Given the description of an element on the screen output the (x, y) to click on. 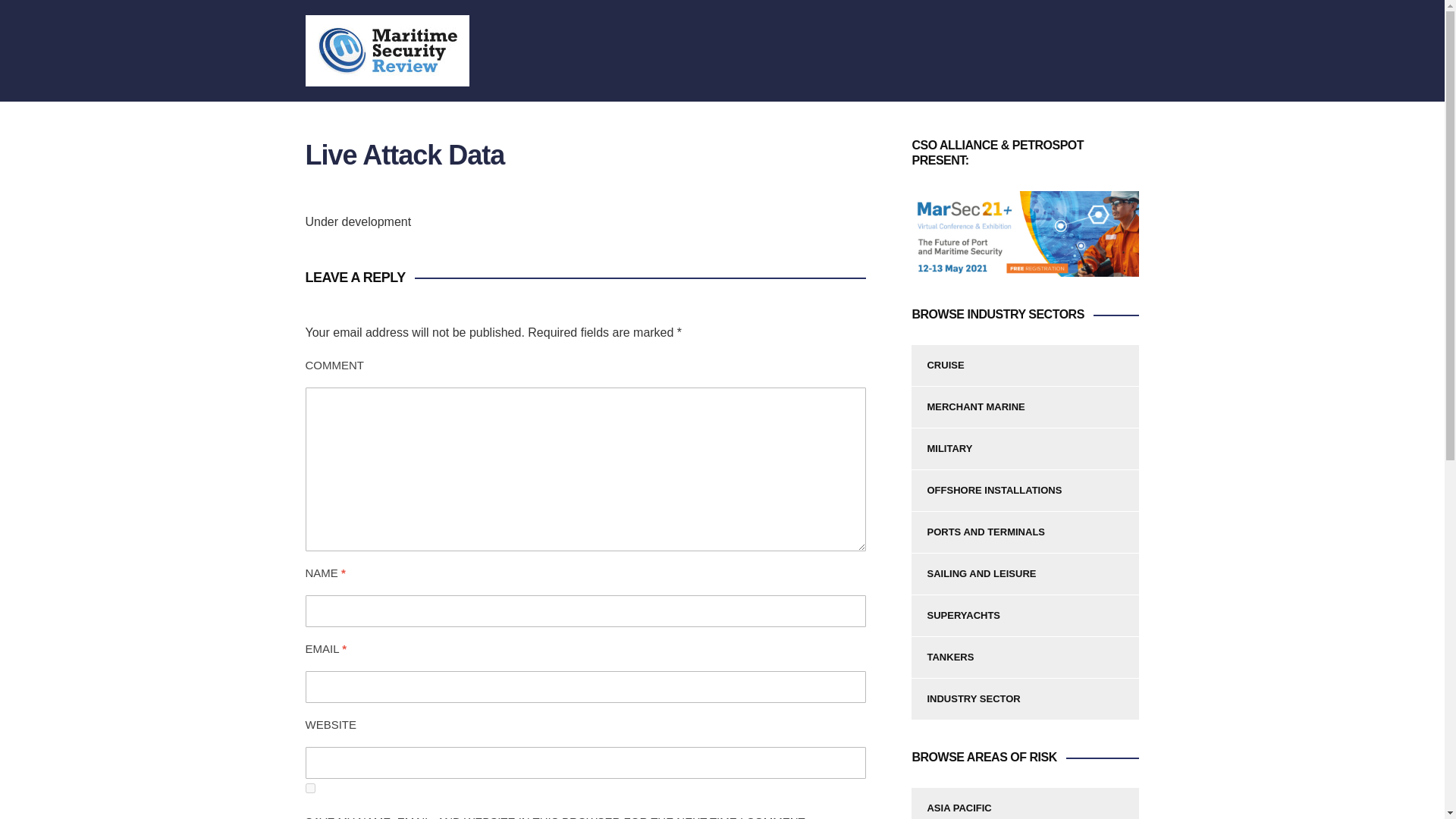
PORTS AND TERMINALS (1024, 532)
SAILING AND LEISURE (1024, 574)
OFFSHORE INSTALLATIONS (1024, 490)
TANKERS (1024, 657)
CRUISE (1024, 364)
yes (309, 787)
SUPERYACHTS (1024, 616)
ASIA PACIFIC (1024, 803)
MERCHANT MARINE (1024, 407)
INDUSTRY SECTOR (1024, 698)
